Given the description of an element on the screen output the (x, y) to click on. 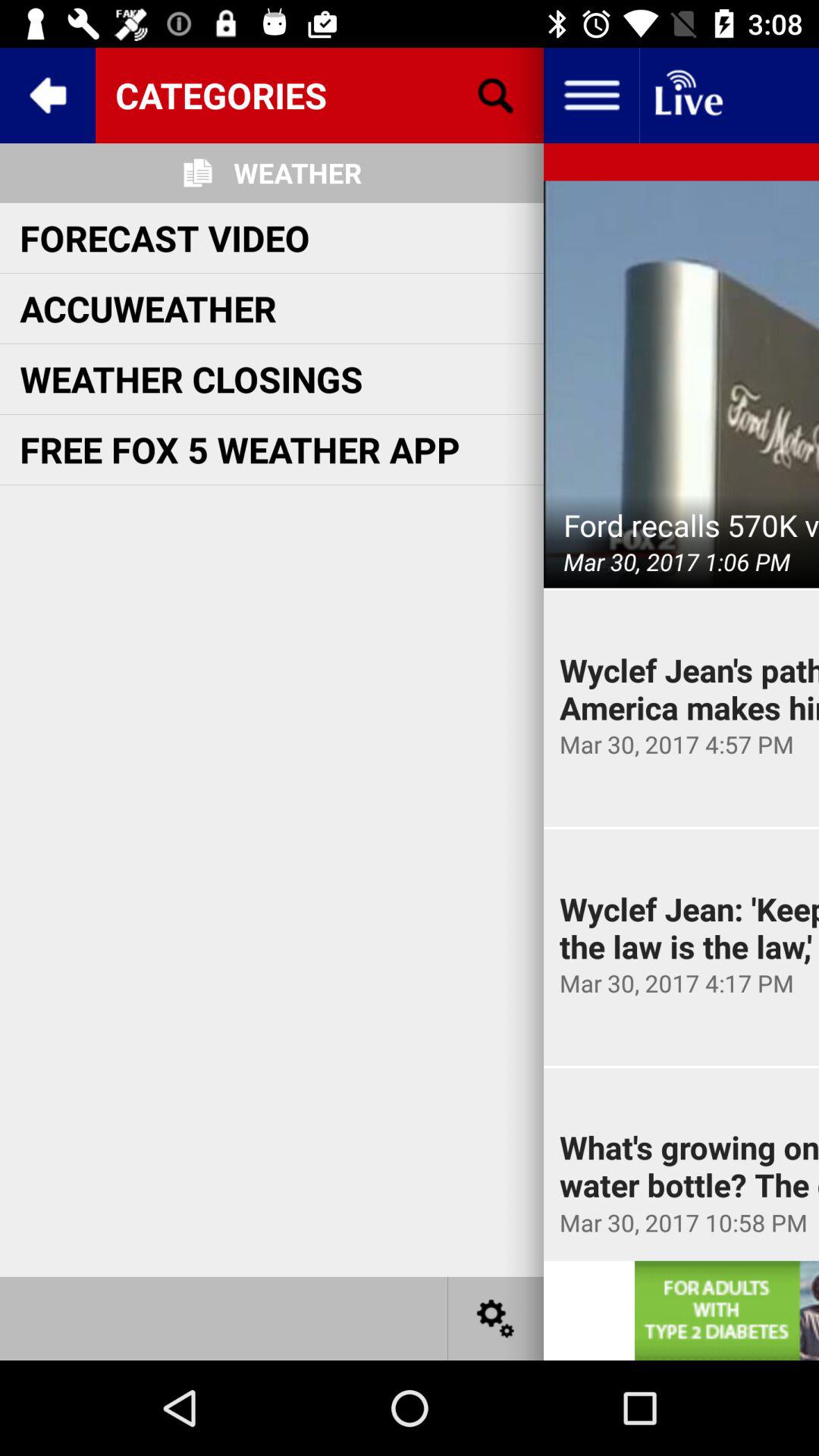
go live (687, 95)
